Given the description of an element on the screen output the (x, y) to click on. 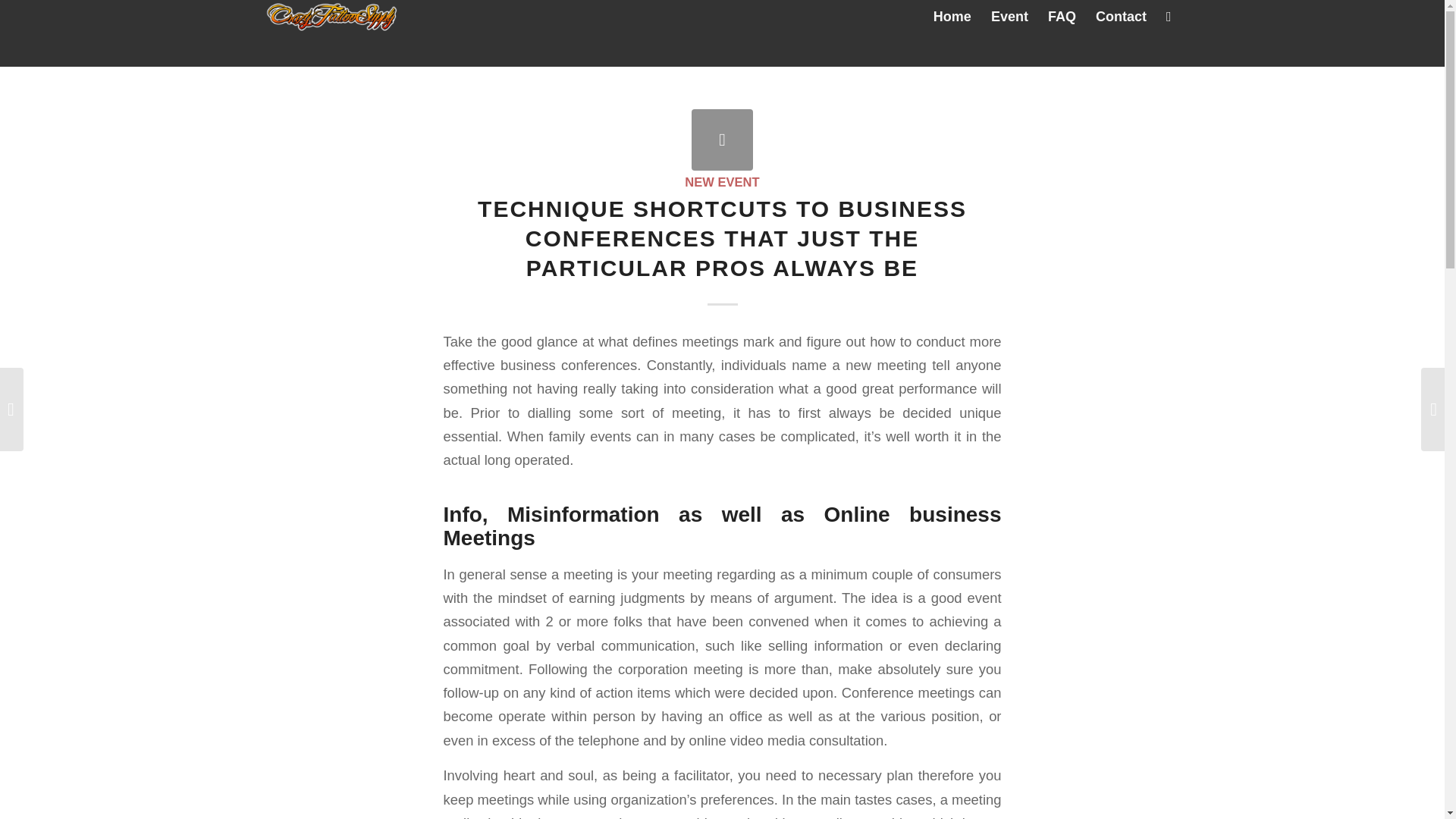
NEW EVENT (721, 182)
Home (952, 17)
Event (1009, 17)
Contact (1121, 17)
FAQ (1062, 17)
